Given the description of an element on the screen output the (x, y) to click on. 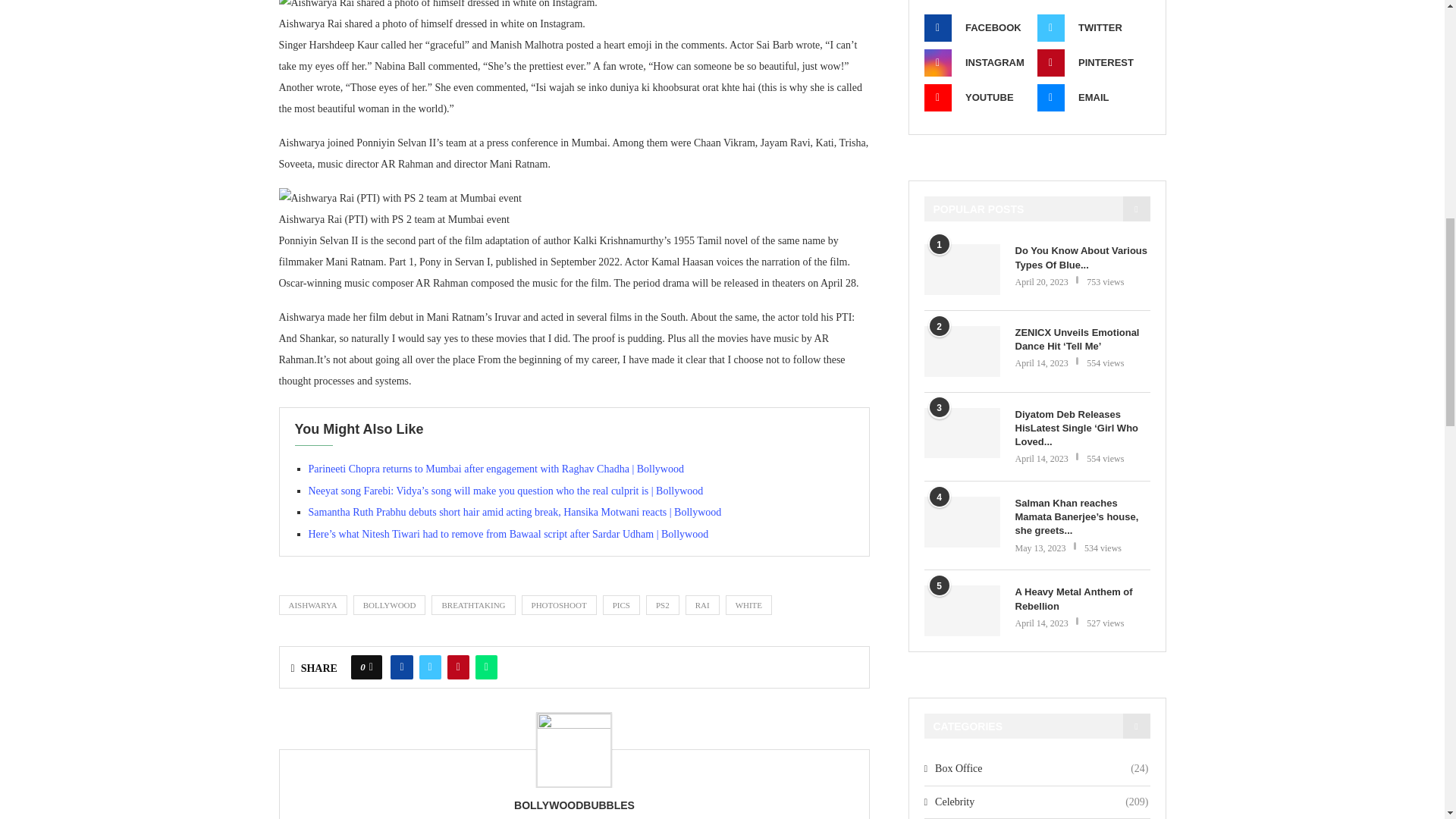
PHOTOSHOOT (558, 605)
AISHWARYA (313, 605)
BREATHTAKING (472, 605)
Author bollywoodbubbles (573, 805)
BOLLYWOOD (389, 605)
